Given the description of an element on the screen output the (x, y) to click on. 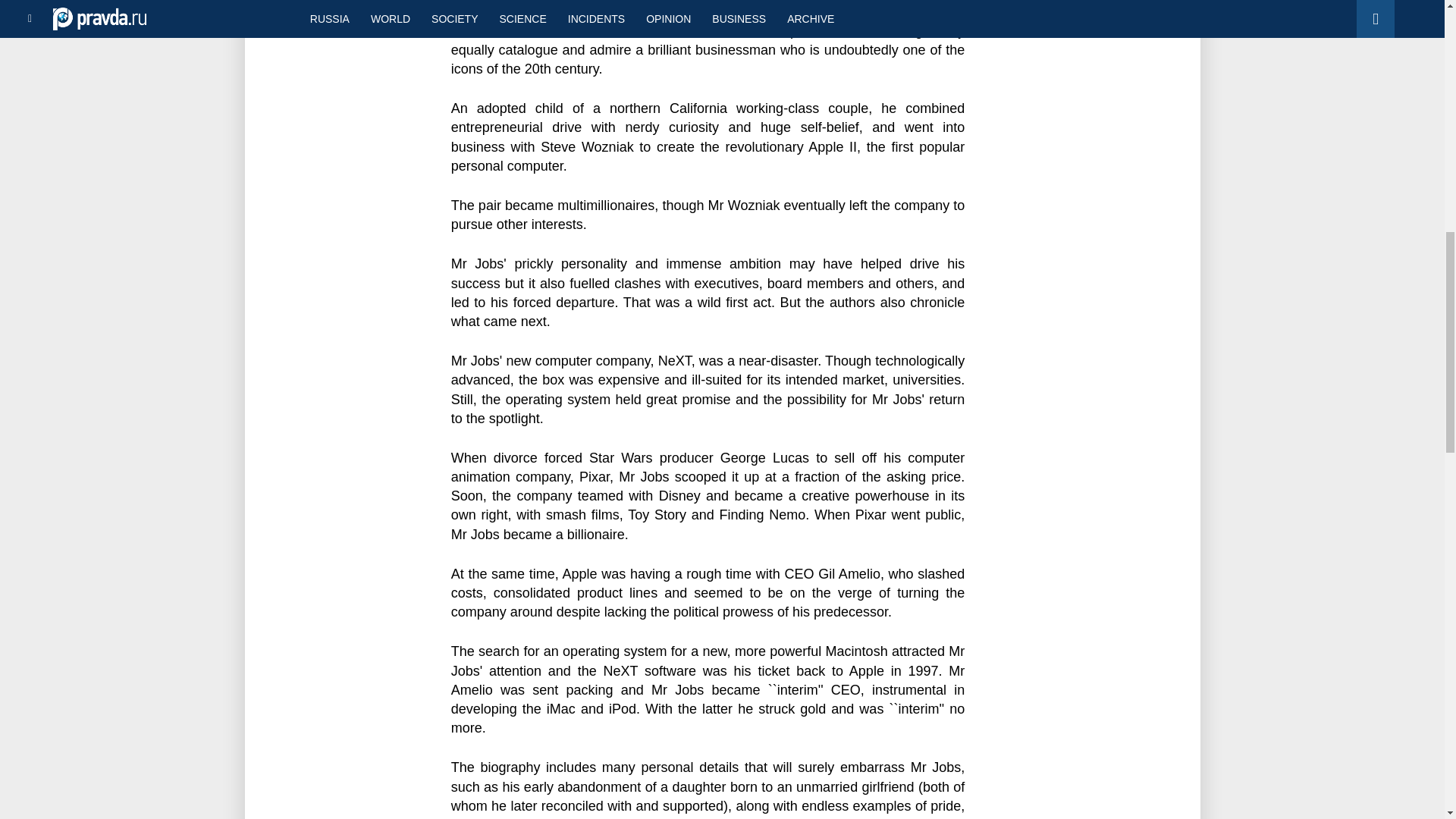
Ukraine loses another Abrams tank in special operation zone (348, 4)
Back to top (1418, 79)
